Given the description of an element on the screen output the (x, y) to click on. 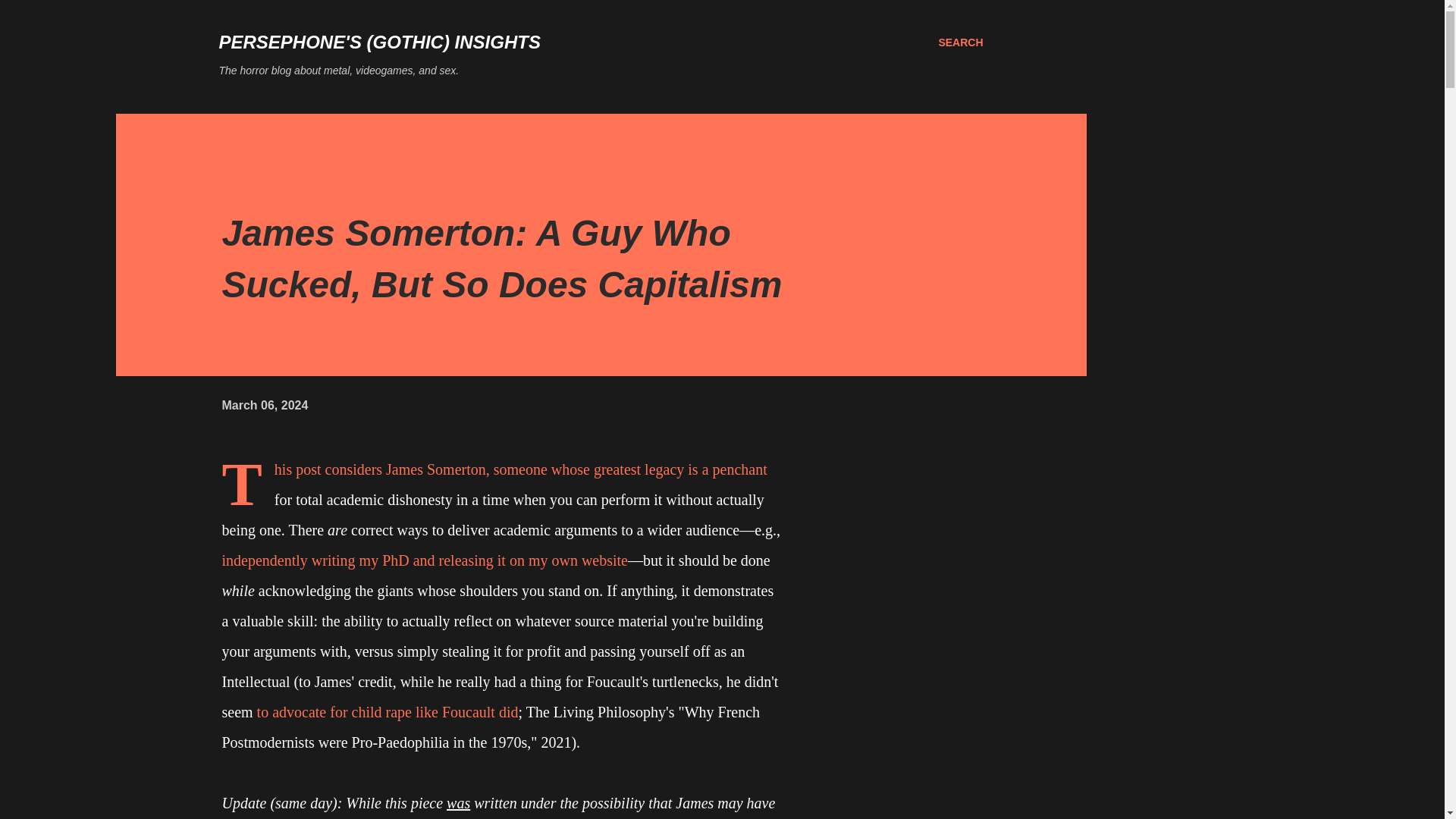
to advocate for child rape like Foucault did (387, 711)
permanent link (264, 404)
SEARCH (959, 42)
March 06, 2024 (264, 404)
